Given the description of an element on the screen output the (x, y) to click on. 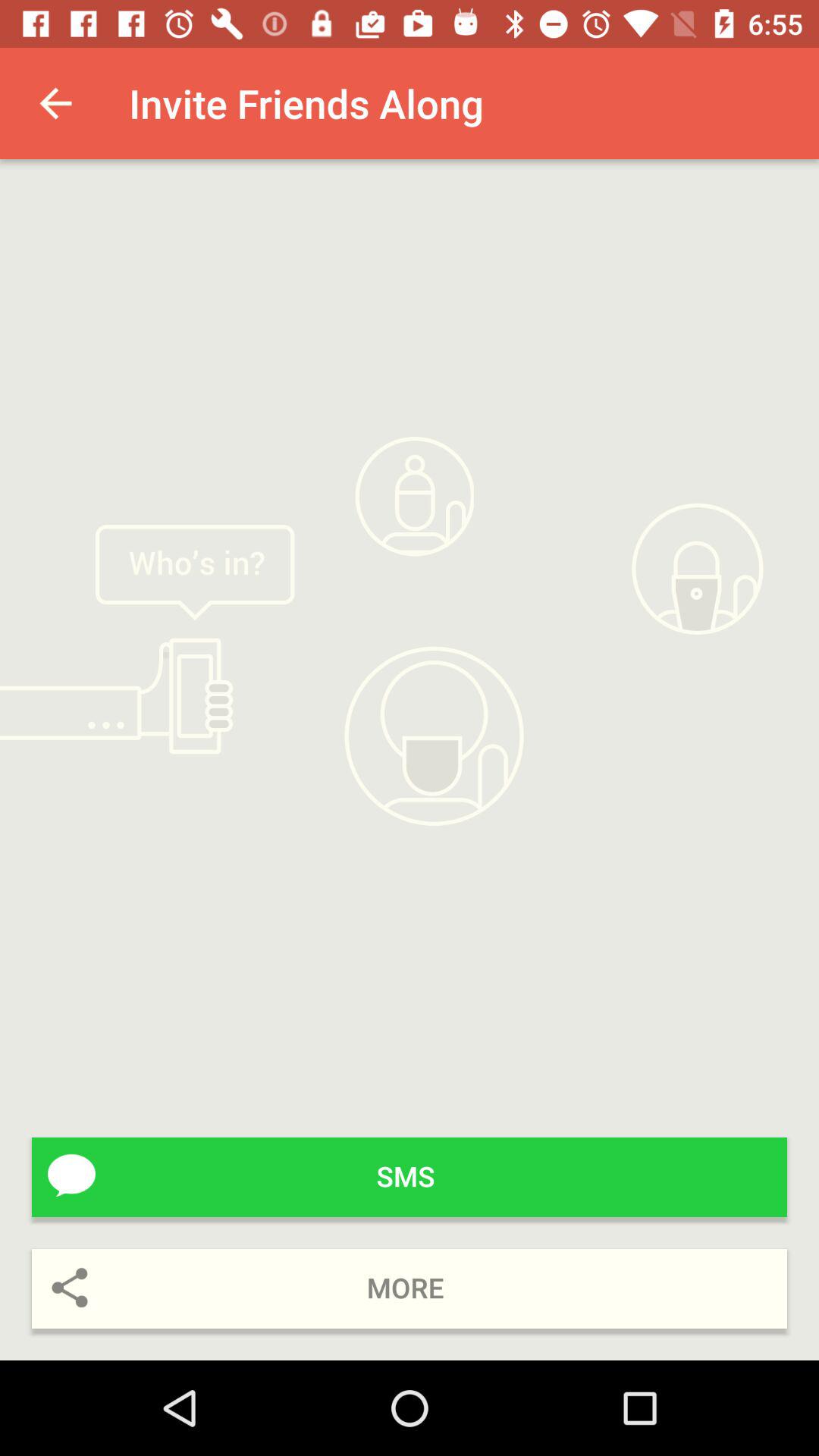
turn on more icon (409, 1288)
